Given the description of an element on the screen output the (x, y) to click on. 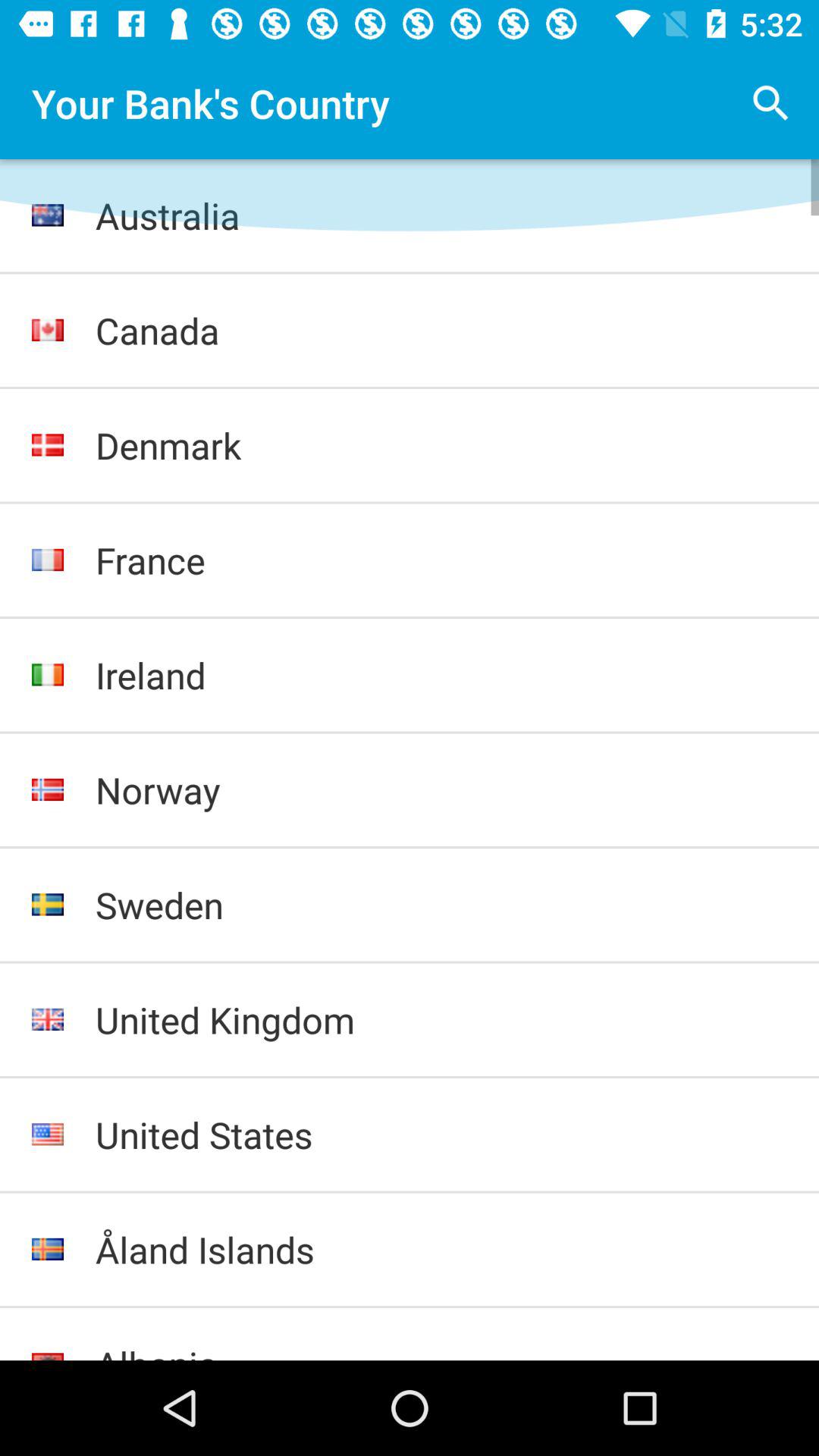
turn off the icon below australia icon (441, 329)
